Given the description of an element on the screen output the (x, y) to click on. 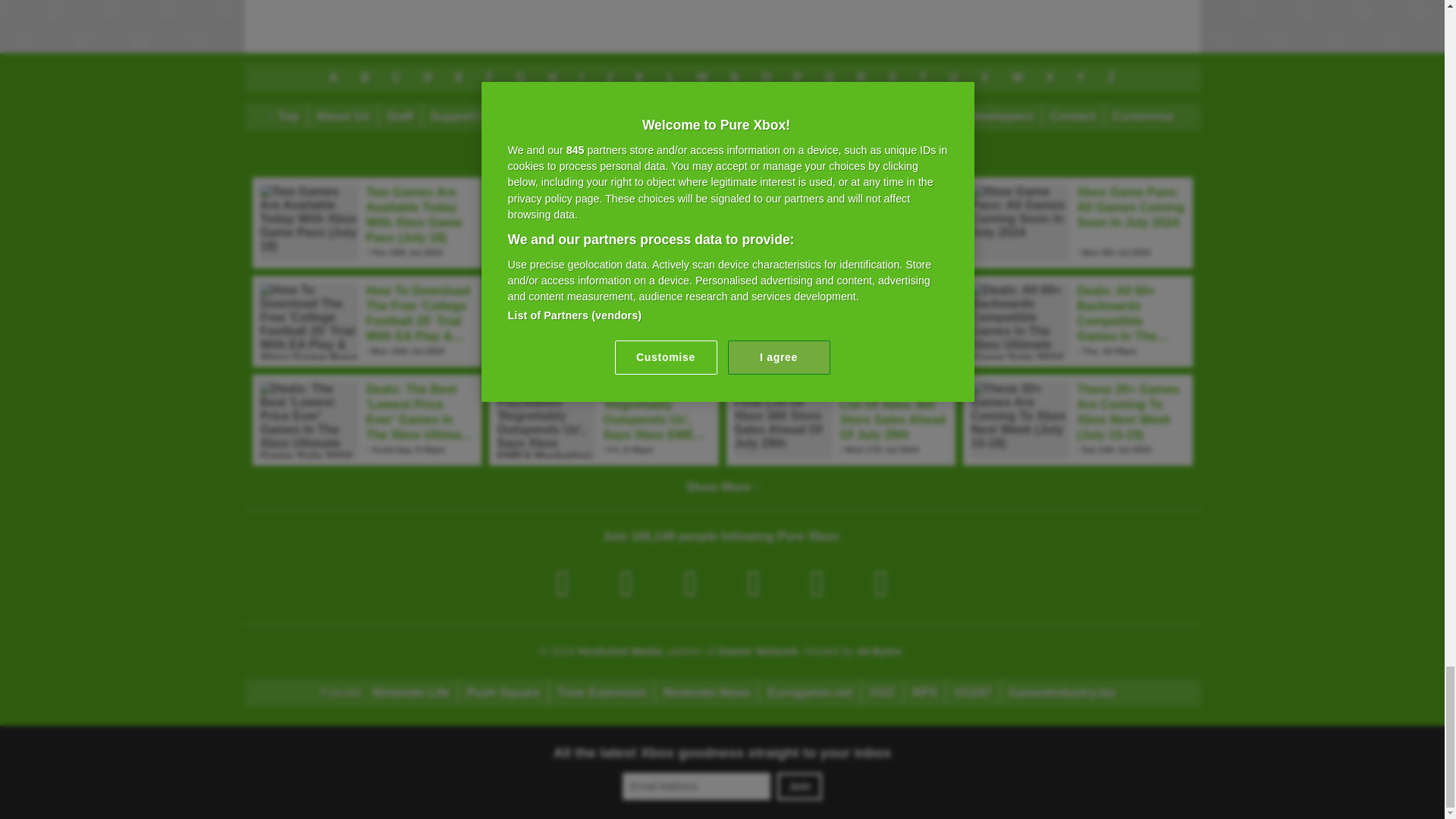
Join (799, 786)
